Given the description of an element on the screen output the (x, y) to click on. 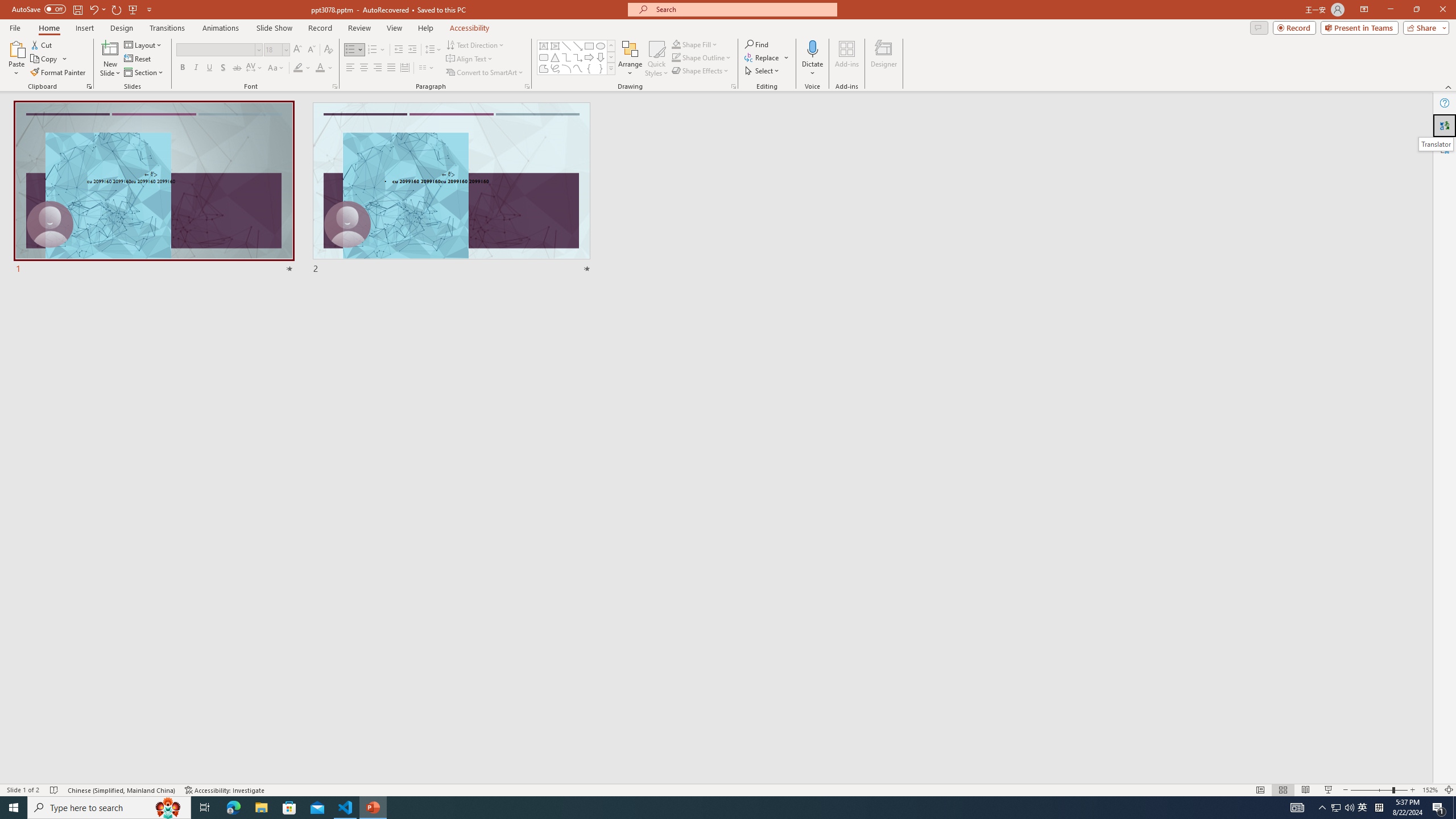
Animations (220, 28)
Shape Effects (700, 69)
Paste (16, 58)
Font Color (324, 67)
Row up (611, 45)
Font (215, 49)
Connector: Elbow (566, 57)
Accessibility (1444, 147)
Zoom 152% (1430, 790)
Reset (138, 58)
Accessibility Checker Accessibility: Investigate (224, 790)
Microsoft search (742, 9)
Replace... (762, 56)
